Given the description of an element on the screen output the (x, y) to click on. 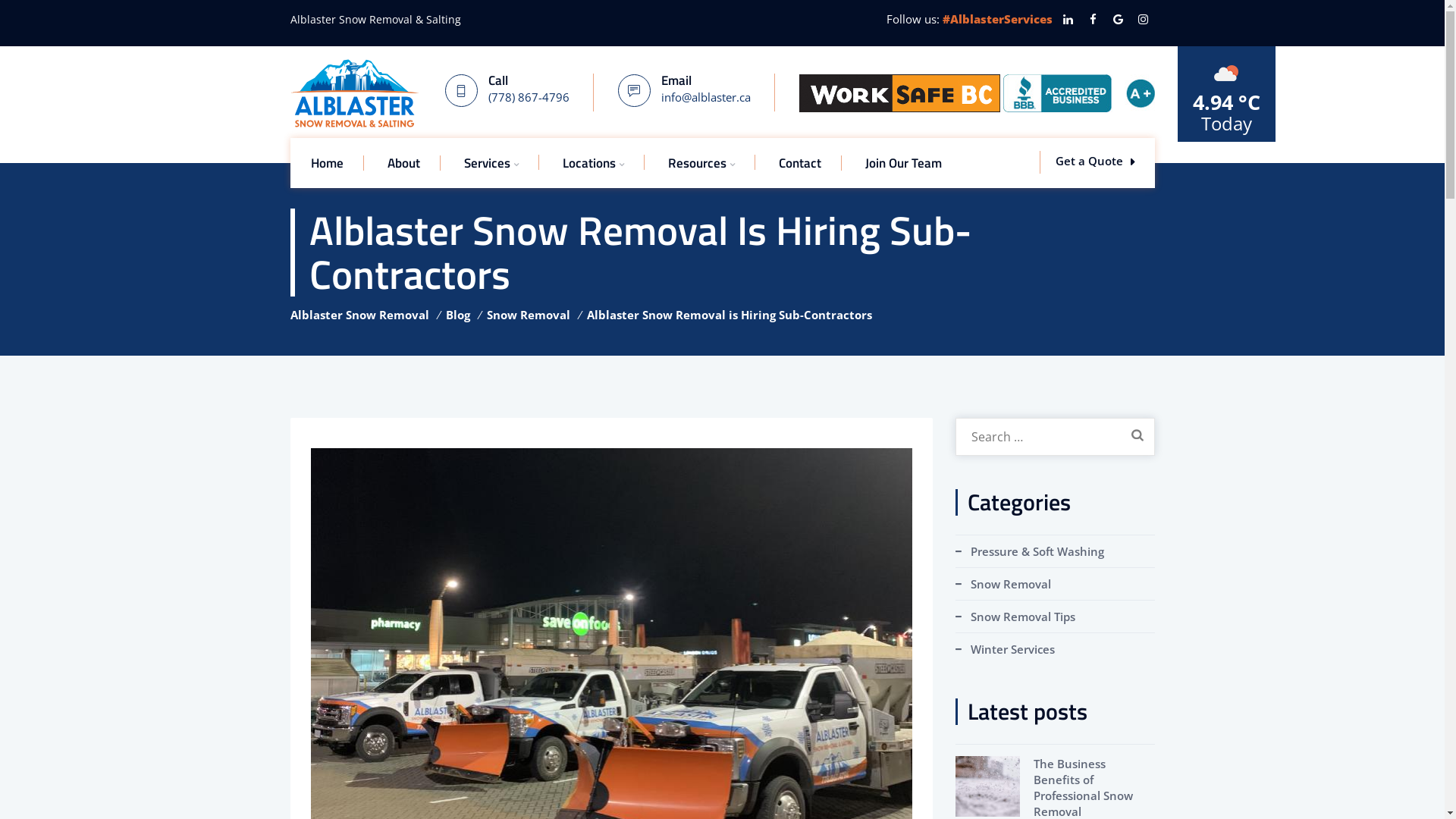
Contact Element type: text (799, 162)
Search Element type: text (1136, 434)
Get a Quote Element type: text (1094, 160)
(778) 867-4796 Element type: text (528, 96)
Snow Removal Element type: text (1003, 583)
Snow Removal Tips Element type: text (1015, 616)
Join Our Team Element type: text (902, 162)
Locations Element type: text (593, 162)
Resources Element type: text (700, 162)
Blog Element type: text (457, 314)
About Element type: text (402, 162)
info@alblaster.ca Element type: text (705, 96)
Pressure & Soft Washing Element type: text (1029, 550)
Home Element type: text (326, 162)
Winter Services Element type: text (1004, 648)
Alblaster Snow Removal Element type: text (358, 314)
Snow Removal Element type: text (528, 314)
Services Element type: text (491, 162)
